Given the description of an element on the screen output the (x, y) to click on. 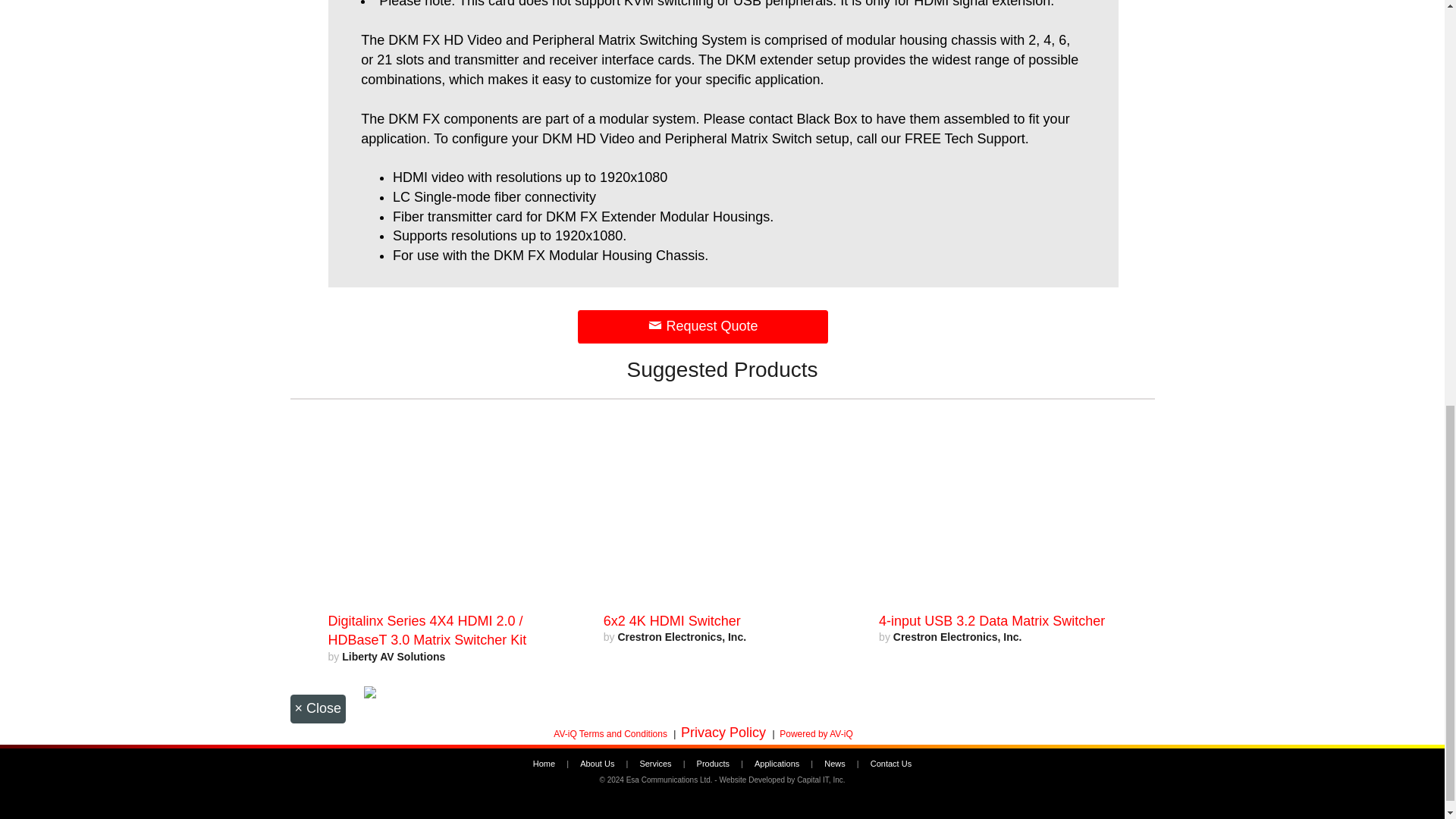
Applications (776, 763)
Services (655, 763)
About Us (596, 763)
Contact Us (890, 763)
News (834, 763)
Home (543, 763)
Products (713, 763)
